Given the description of an element on the screen output the (x, y) to click on. 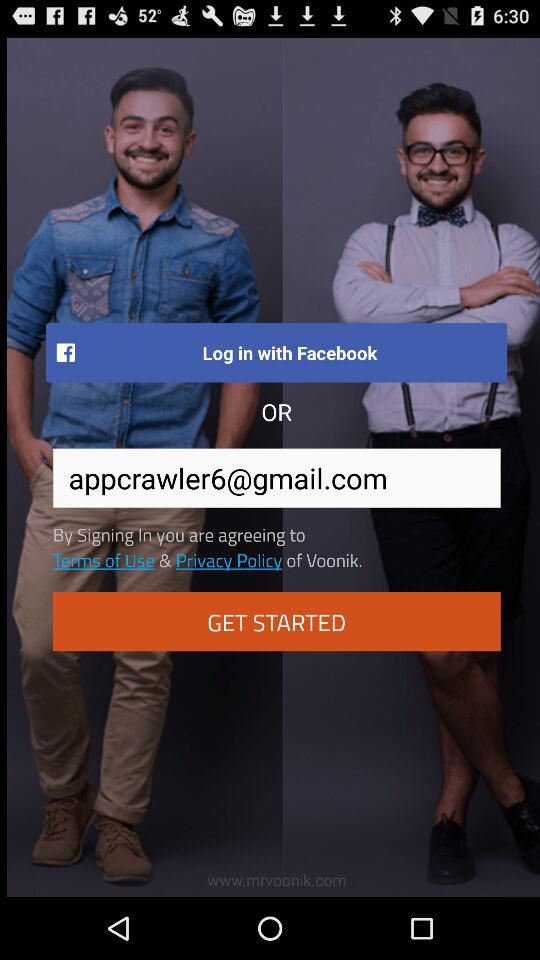
tap the item above or icon (276, 352)
